Given the description of an element on the screen output the (x, y) to click on. 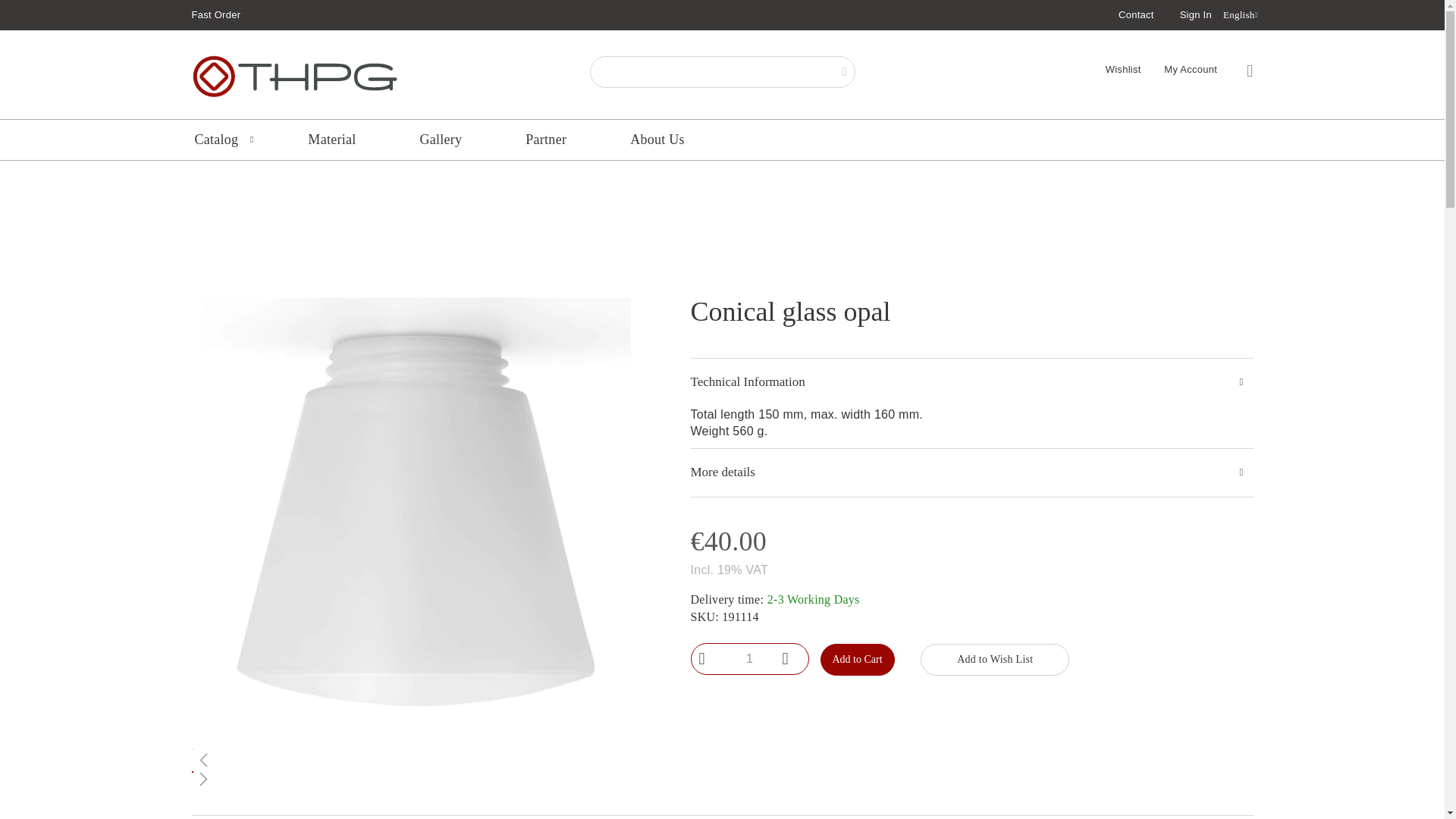
Catalog (218, 139)
Search (845, 71)
Search (845, 71)
My Cart (1249, 70)
1 (749, 658)
Add to Cart (858, 658)
Fast Order (215, 14)
Contact (1136, 14)
Wishlist (1123, 69)
Qty (749, 658)
My Account (1190, 69)
Sign In (1195, 15)
